Given the description of an element on the screen output the (x, y) to click on. 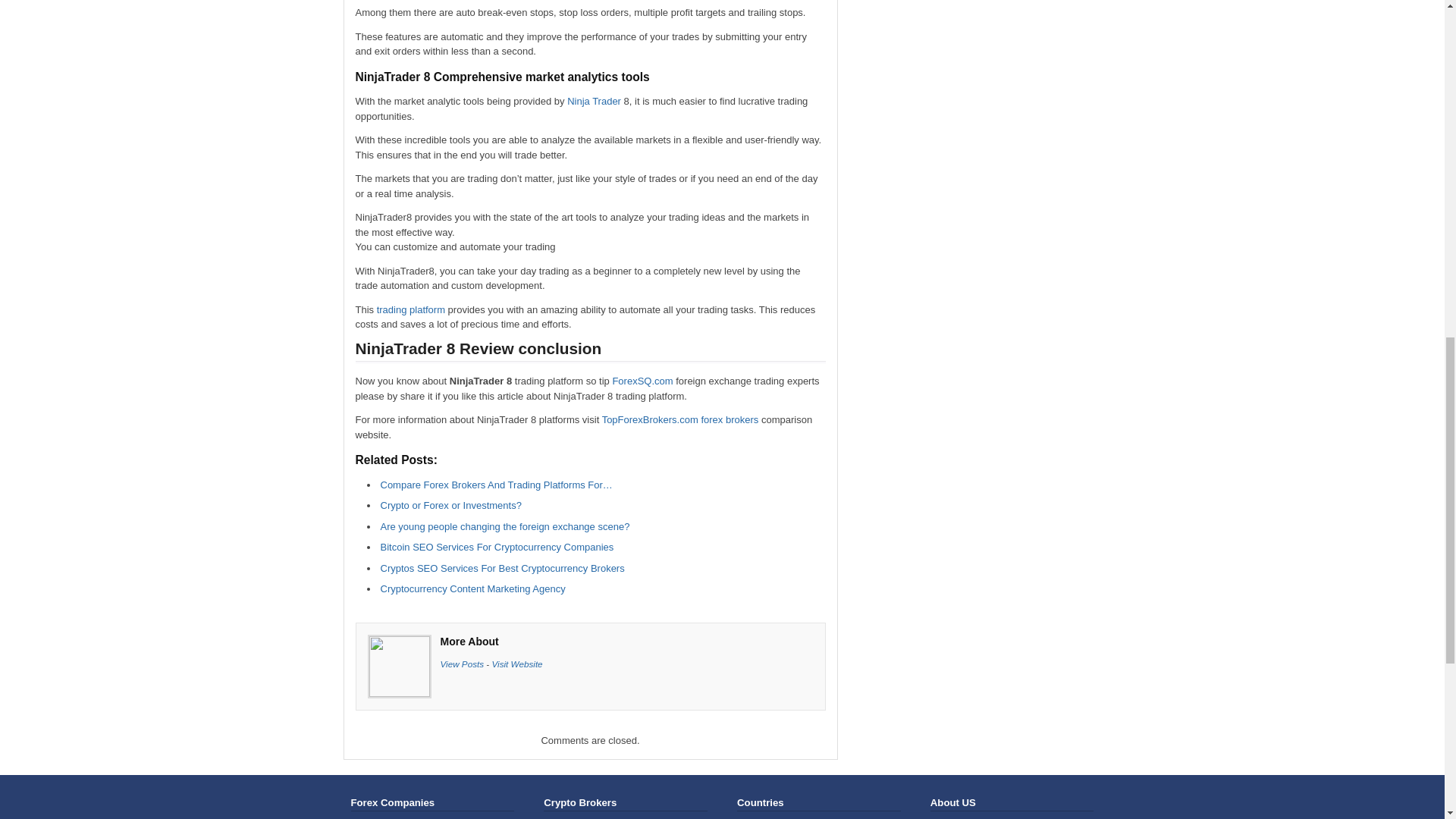
Visit Website (516, 664)
Cryptos SEO Services For Best Cryptocurrency Brokers (502, 568)
Bitcoin SEO Services For Cryptocurrency Companies (497, 546)
forex brokers (729, 419)
Are young people changing the foreign exchange scene? (505, 525)
ForexSQ.com (641, 380)
trading platform (411, 308)
View Posts (461, 664)
TopForexBrokers.com (650, 419)
Ninja Trader (594, 101)
